Given the description of an element on the screen output the (x, y) to click on. 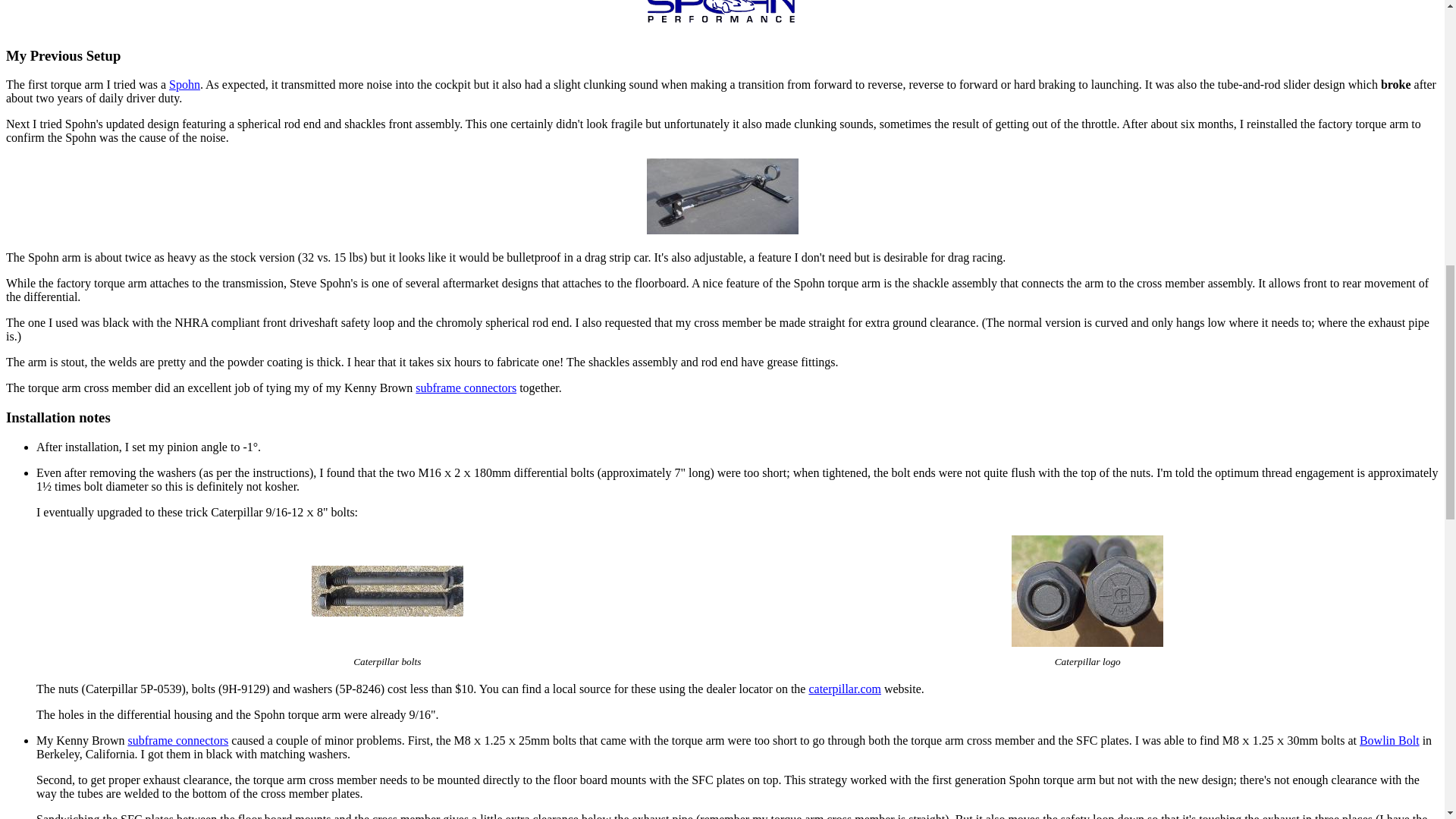
subframe connectors (465, 387)
caterpillar.com (844, 688)
Spohn (184, 83)
subframe connectors (178, 739)
My Previous Setup (62, 55)
Bowlin Bolt (1389, 739)
